Given the description of an element on the screen output the (x, y) to click on. 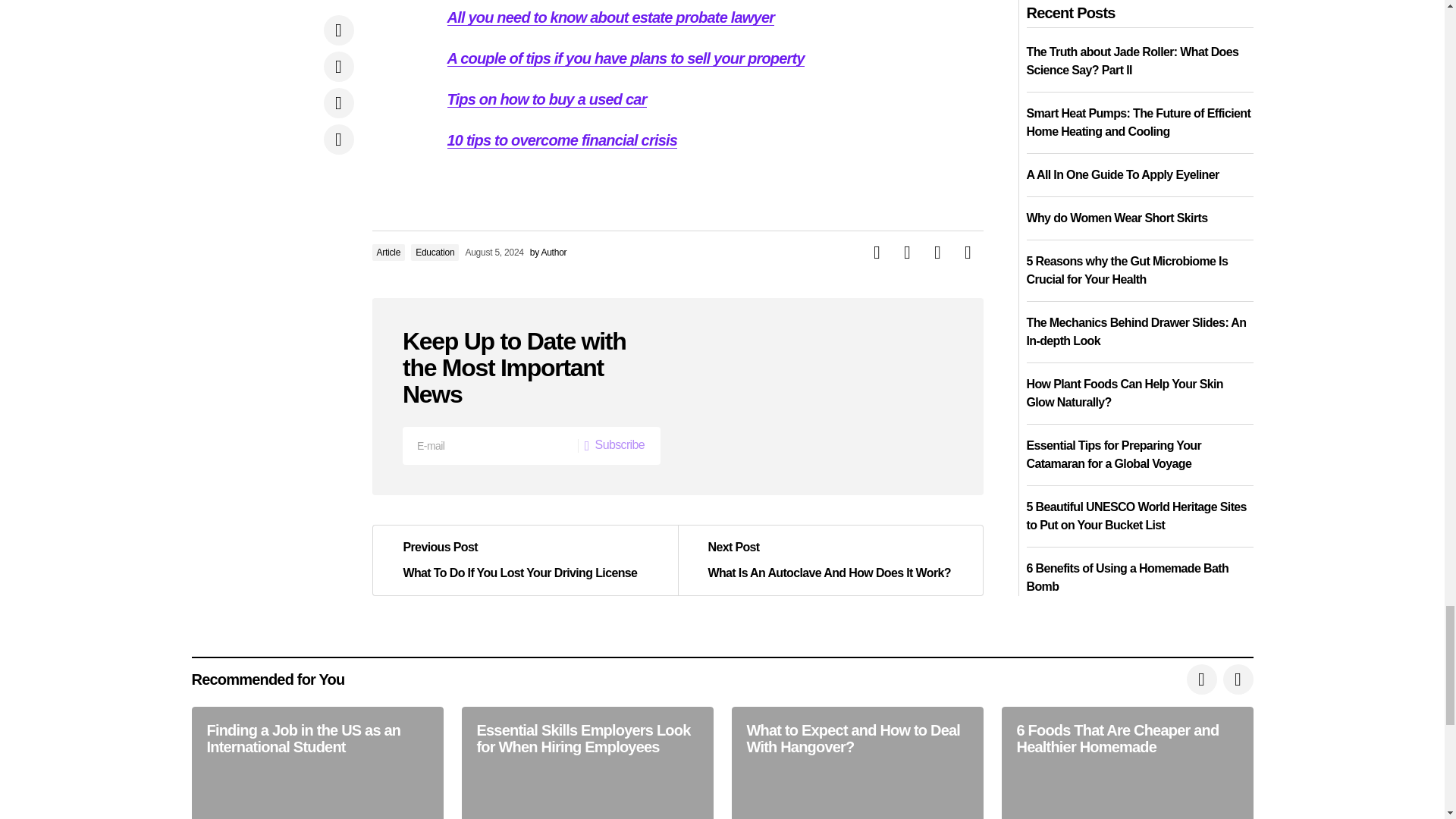
What To Do If You Lost Your Driving License (525, 559)
Share on Facebook (876, 252)
Copy linkCopy link (967, 252)
Share in Telegram (936, 252)
Share in Twitter (906, 252)
